Given the description of an element on the screen output the (x, y) to click on. 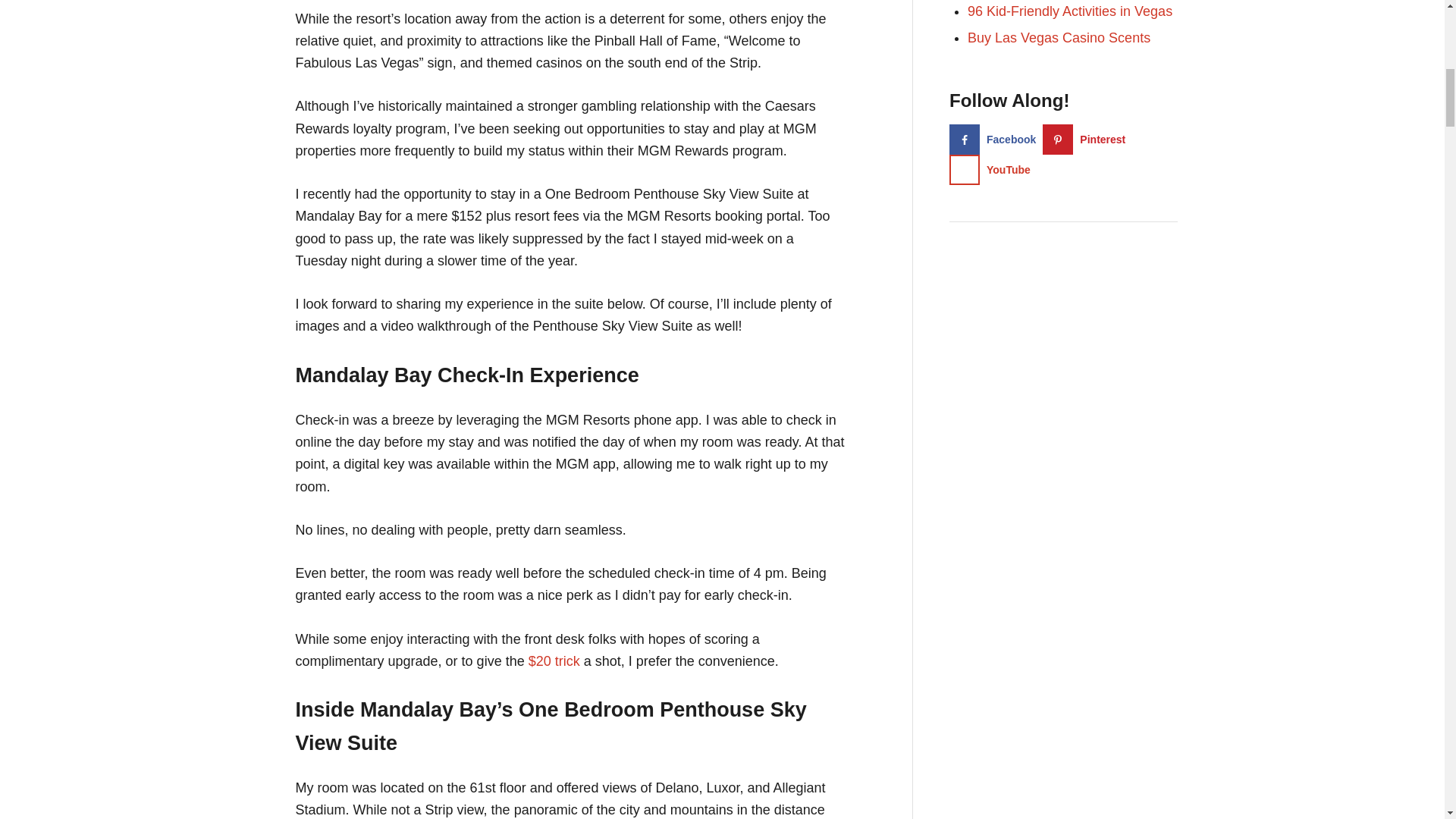
Follow on Pinterest (1087, 139)
Follow on Facebook (995, 139)
